Given the description of an element on the screen output the (x, y) to click on. 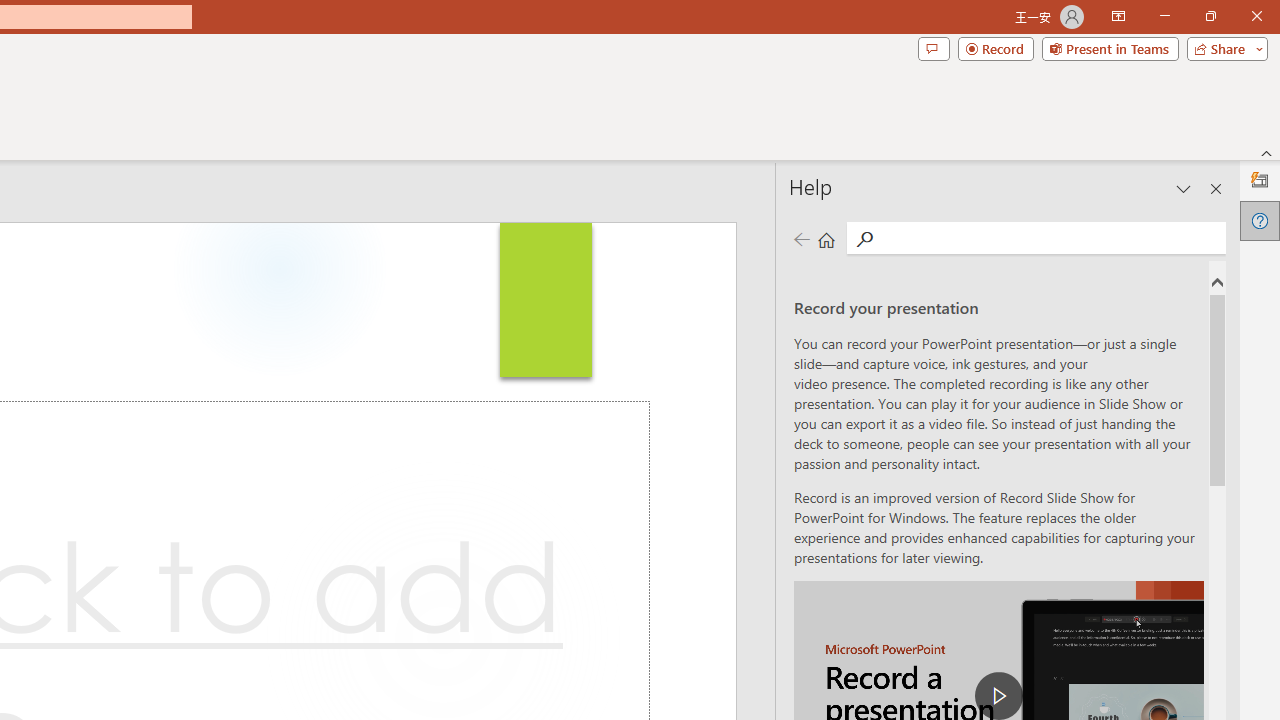
play Record a Presentation (998, 695)
Previous page (801, 238)
